Given the description of an element on the screen output the (x, y) to click on. 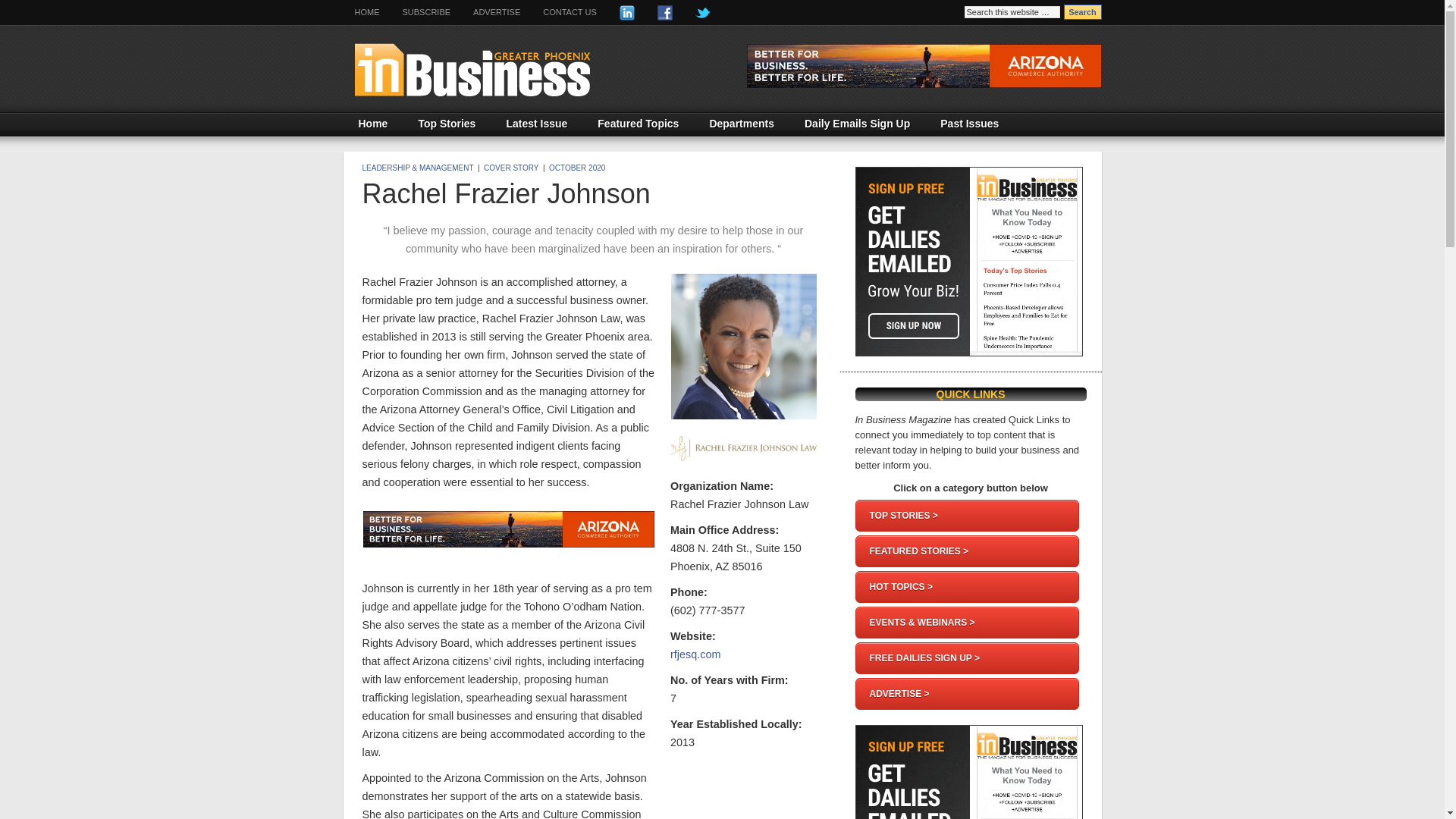
Latest Issue (536, 123)
Featured Topics (638, 123)
Home (372, 123)
Search (1081, 11)
GREATER PHOENIX IN BUSINESS MAGAZINE (528, 68)
Departments (741, 123)
ADVERTISE (496, 11)
CONTACT US (569, 11)
SUBSCRIBE (427, 11)
HOME (366, 11)
Search (1081, 11)
Search (1081, 11)
Top Stories (446, 123)
